Given the description of an element on the screen output the (x, y) to click on. 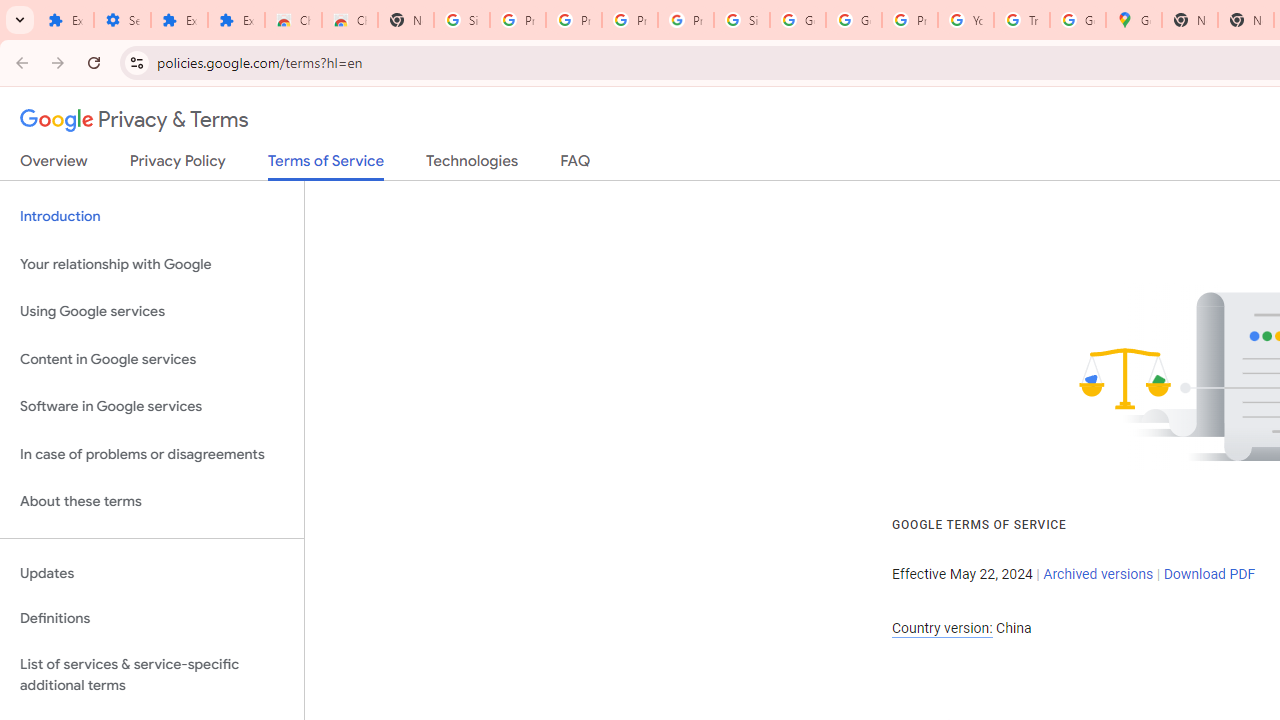
Archived versions (1098, 574)
Using Google services (152, 312)
Extensions (179, 20)
Download PDF (1209, 574)
Privacy & Terms (134, 120)
Google Maps (1133, 20)
Definitions (152, 619)
Content in Google services (152, 358)
Updates (152, 573)
